Given the description of an element on the screen output the (x, y) to click on. 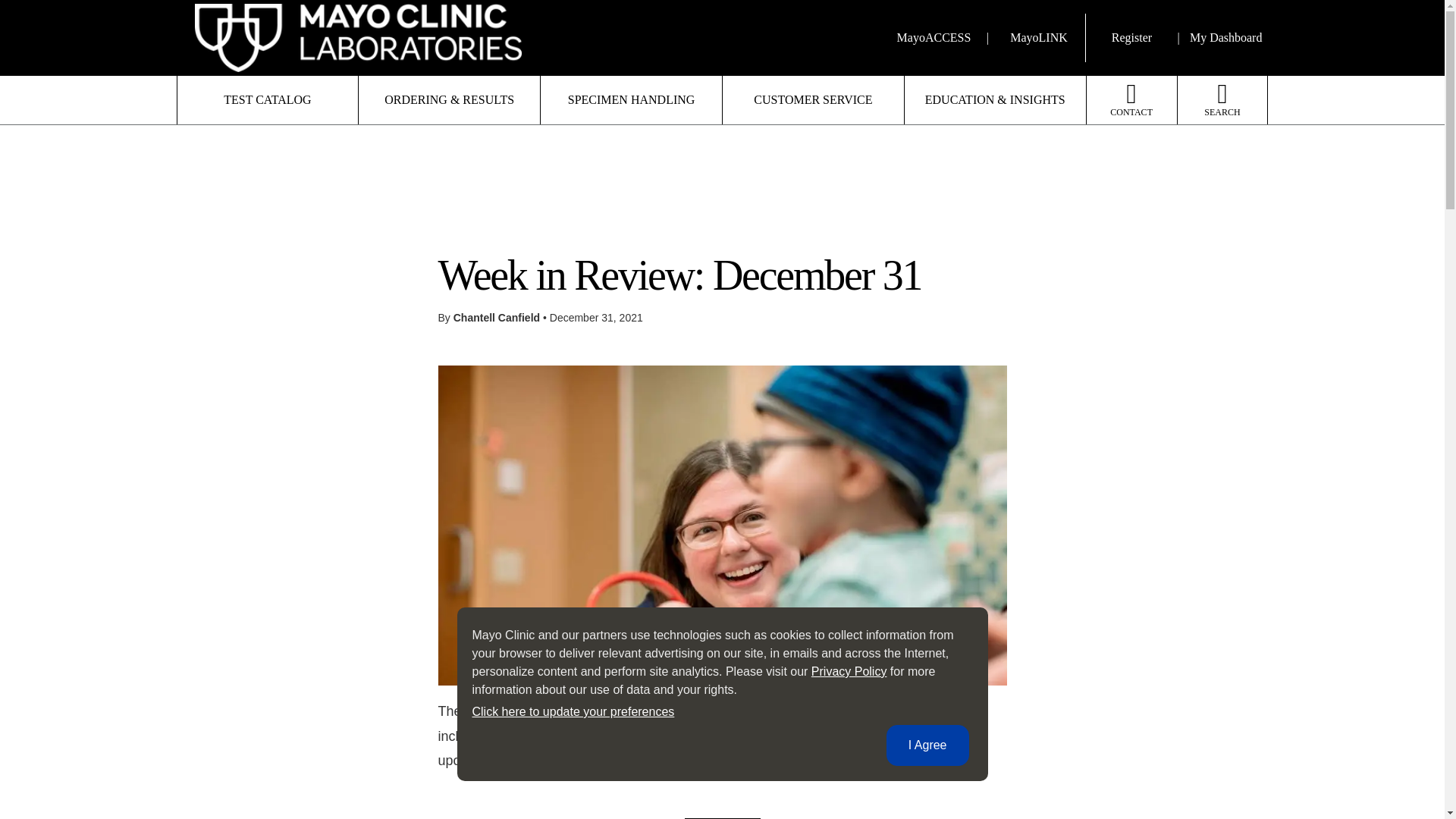
MayoACCESS (931, 37)
MayoLINK (1038, 37)
My Dashboard (1225, 37)
TEST CATALOG (267, 100)
Register (1130, 37)
